Given the description of an element on the screen output the (x, y) to click on. 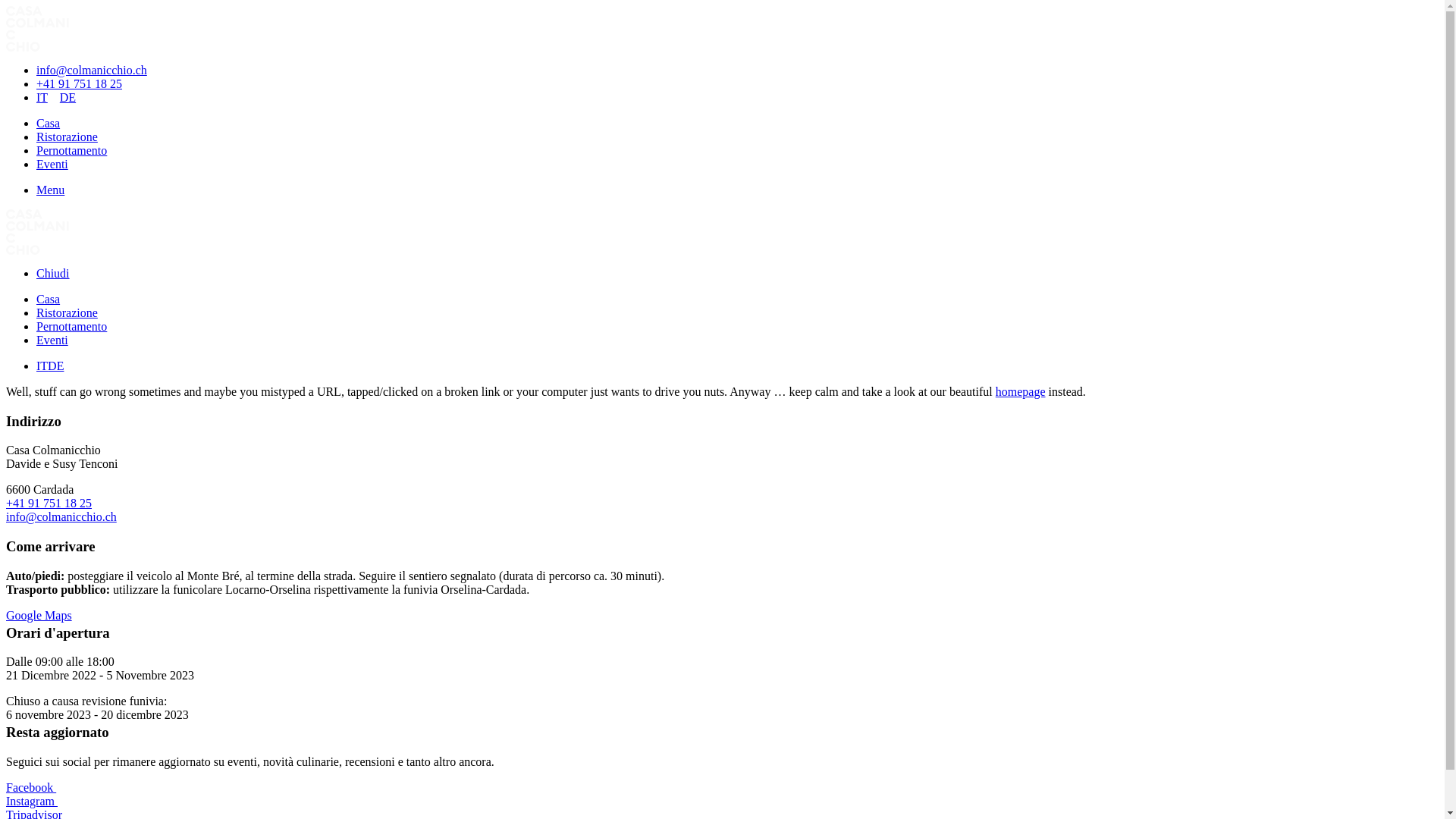
Eventi Element type: text (52, 339)
info@colmanicchio.ch Element type: text (61, 516)
Menu Element type: text (50, 189)
Google Maps Element type: text (39, 614)
Chiudi Element type: text (52, 272)
Pernottamento Element type: text (71, 326)
Instagram Element type: text (31, 800)
Ristorazione Element type: text (66, 312)
Facebook Element type: text (31, 787)
DE Element type: text (67, 97)
IT Element type: text (41, 365)
+41 91 751 18 25 Element type: text (48, 502)
IT Element type: text (41, 97)
+41 91 751 18 25 Element type: text (79, 83)
Casa Element type: text (47, 122)
Ristorazione Element type: text (66, 136)
Casa Element type: text (47, 298)
homepage Element type: text (1020, 391)
info@colmanicchio.ch Element type: text (91, 69)
Pernottamento Element type: text (71, 150)
DE Element type: text (55, 365)
Eventi Element type: text (52, 163)
